Given the description of an element on the screen output the (x, y) to click on. 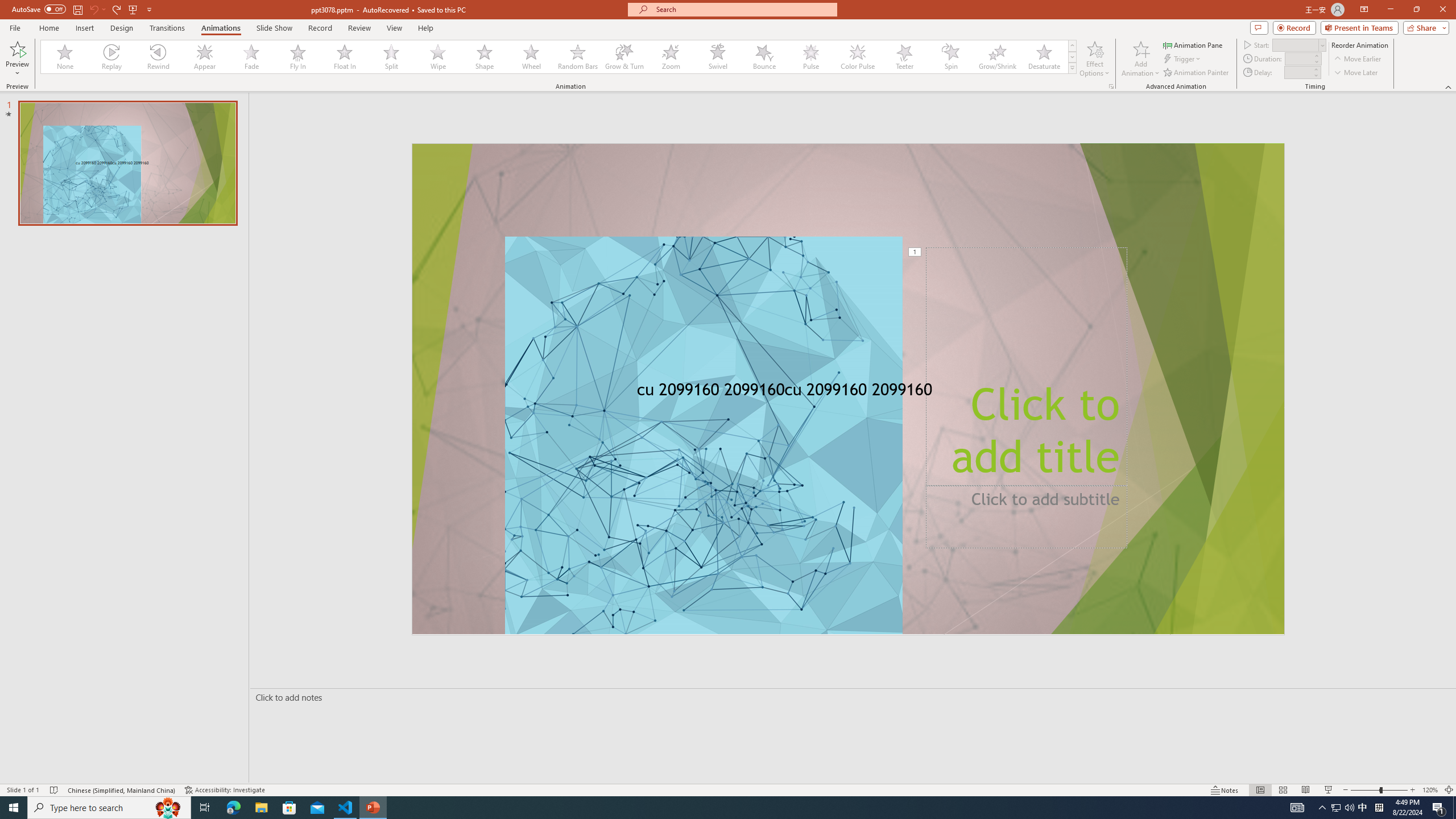
Slide (127, 163)
AutomationID: AnimationGallery (558, 56)
Animation Pane (1193, 44)
Random Bars (577, 56)
Animation Painter (1196, 72)
Grow & Turn (624, 56)
Row Down (1071, 56)
Move Later (1355, 72)
Animation Styles (1071, 67)
